Given the description of an element on the screen output the (x, y) to click on. 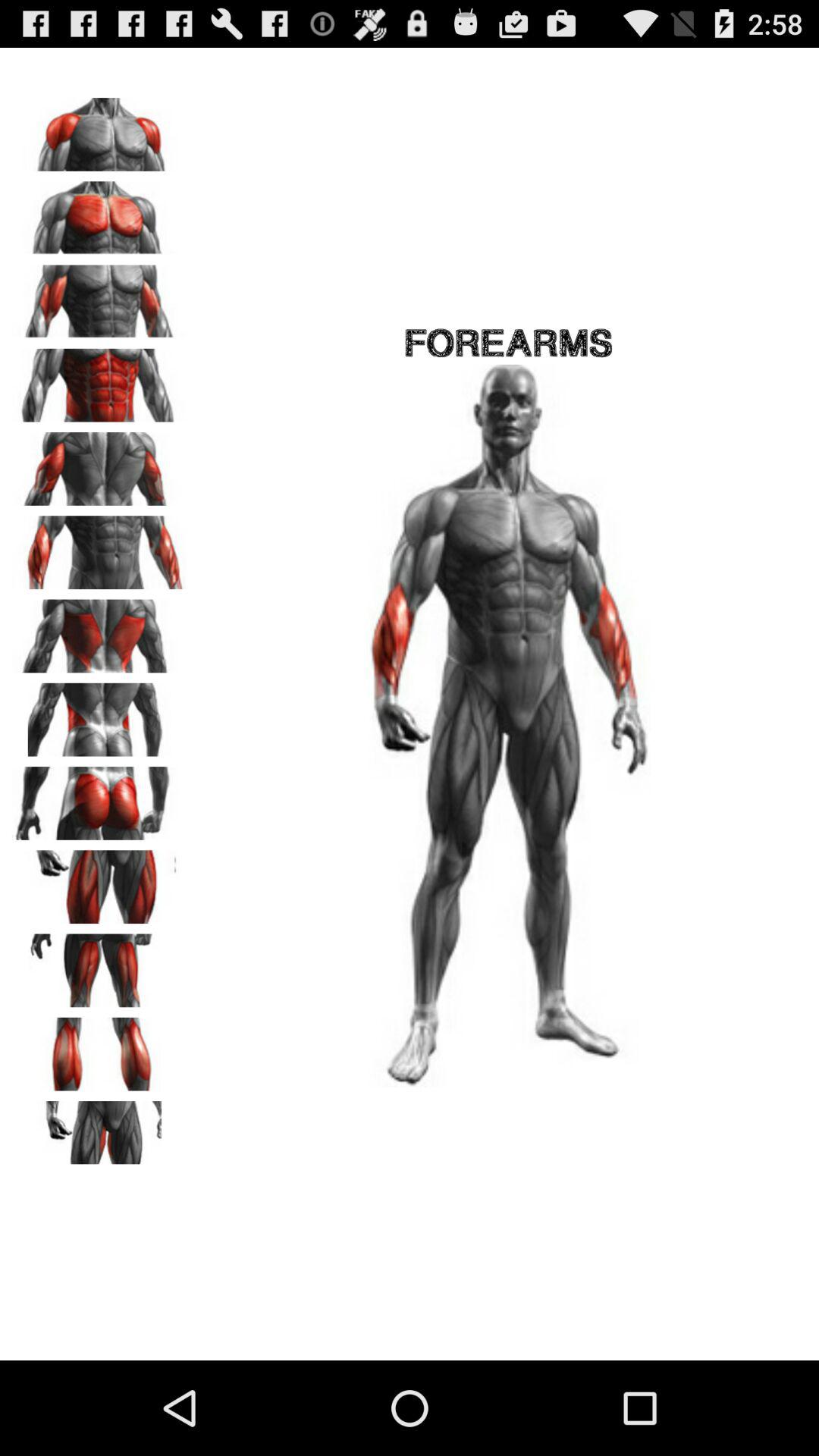
select body part (99, 547)
